Given the description of an element on the screen output the (x, y) to click on. 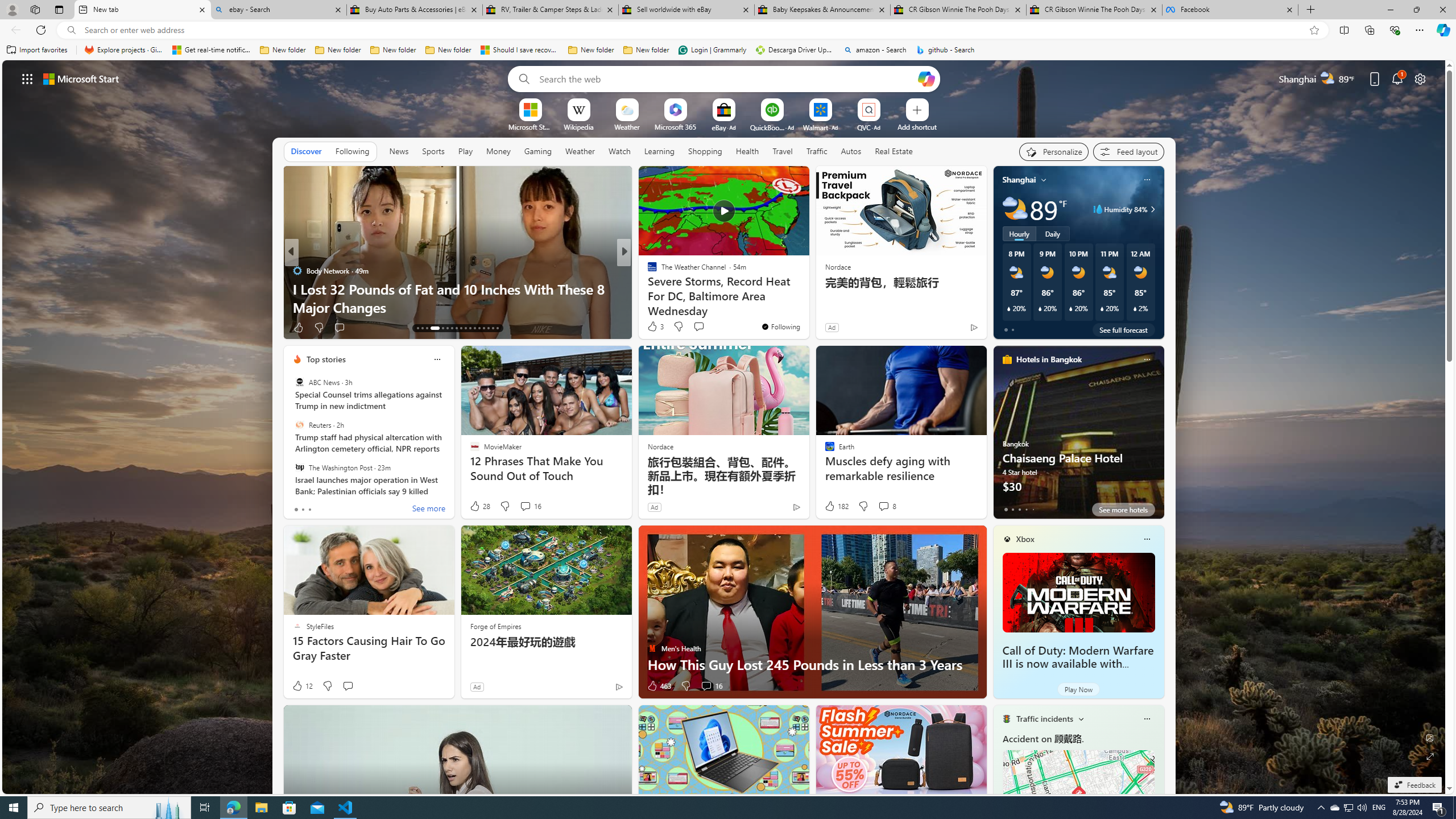
Hide this story (774, 179)
Gaming (537, 151)
News (398, 151)
View comments 16 Comment (710, 685)
AutomationID: backgroundImagePicture (723, 426)
Buy Auto Parts & Accessories | eBay (414, 9)
Expand background (1430, 756)
Forge of Empires (495, 625)
Play (465, 151)
Change scenarios (1080, 718)
AutomationID: tab-14 (422, 328)
AutomationID: tab-23 (470, 328)
tab-3 (1025, 509)
